Given the description of an element on the screen output the (x, y) to click on. 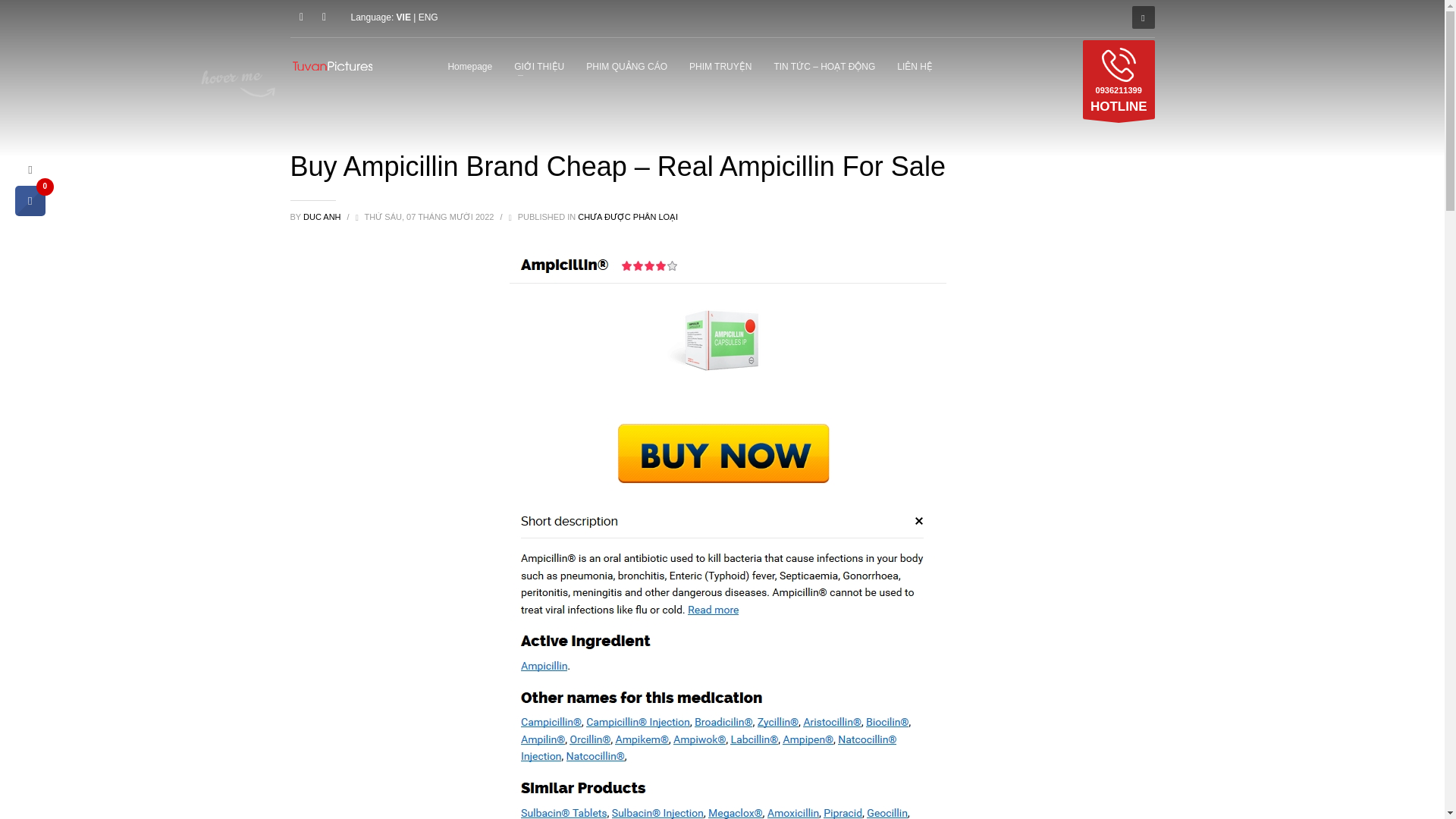
Call us (1118, 79)
Youtube (323, 16)
Homepage (469, 66)
DUC ANH (322, 216)
Share on Facebook (29, 211)
Facebook (1118, 79)
VIE (301, 16)
